Given the description of an element on the screen output the (x, y) to click on. 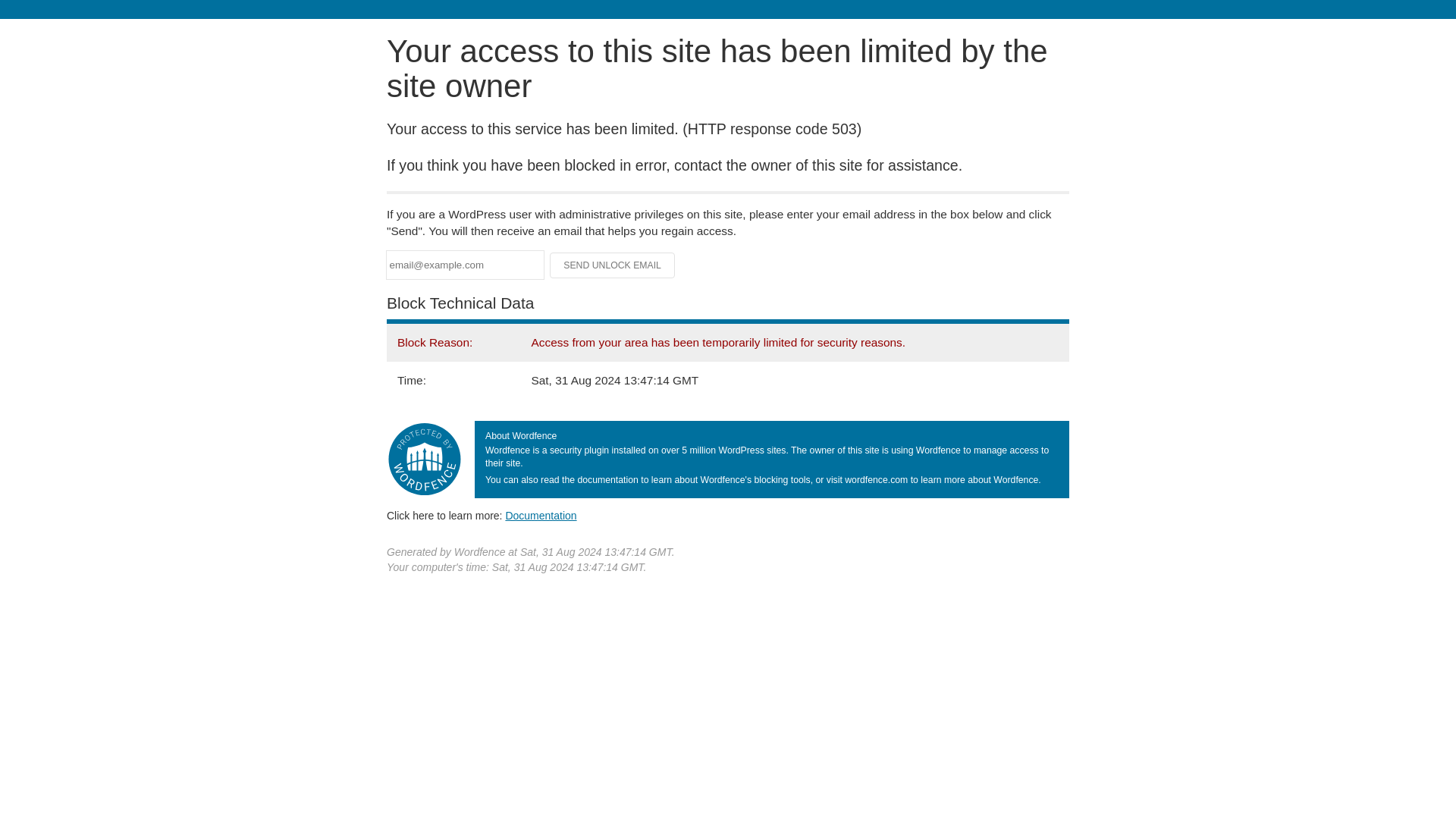
Send Unlock Email (612, 265)
Send Unlock Email (612, 265)
Documentation (540, 515)
